Given the description of an element on the screen output the (x, y) to click on. 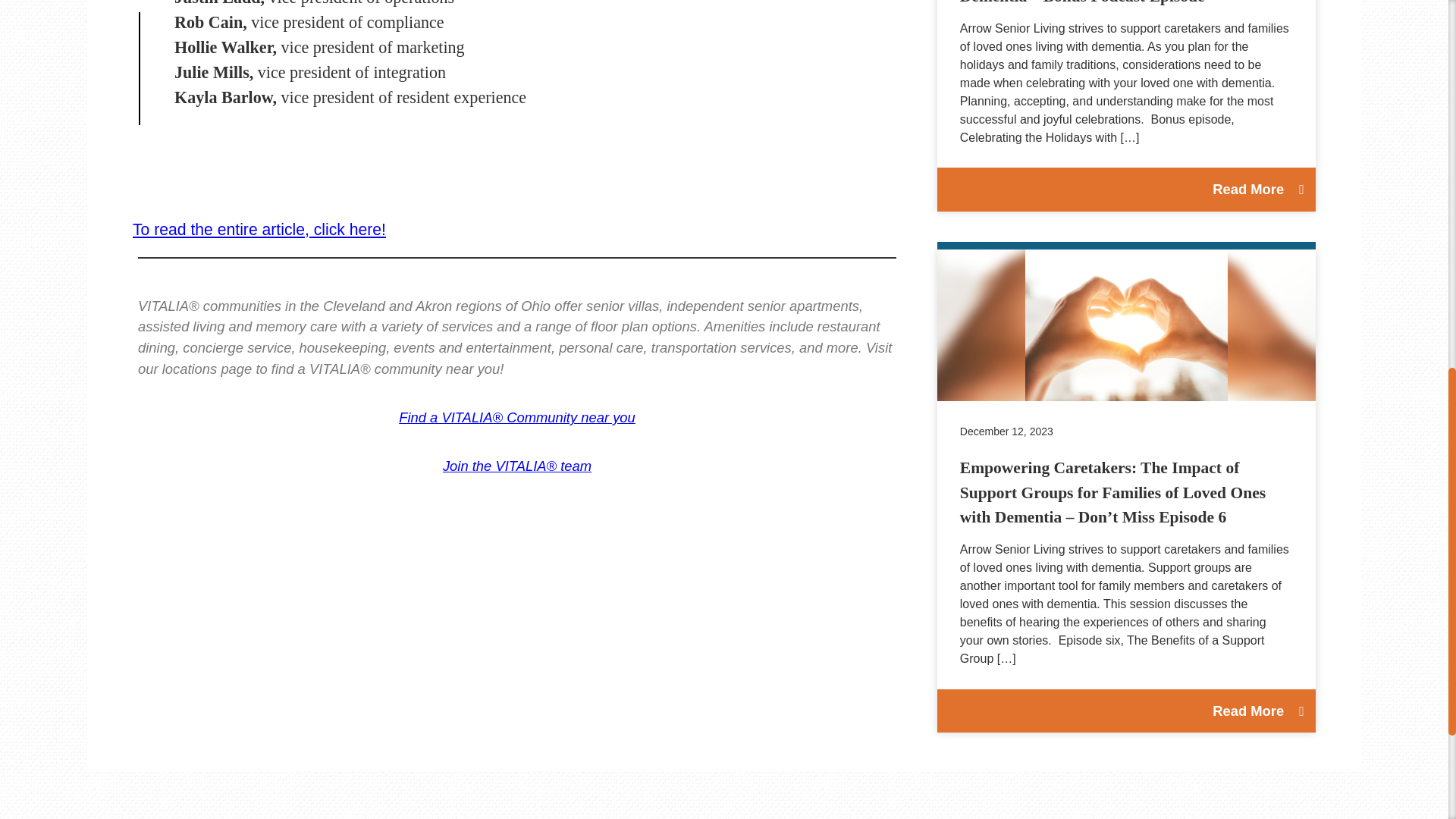
To read the entire article, click here! (258, 229)
